Given the description of an element on the screen output the (x, y) to click on. 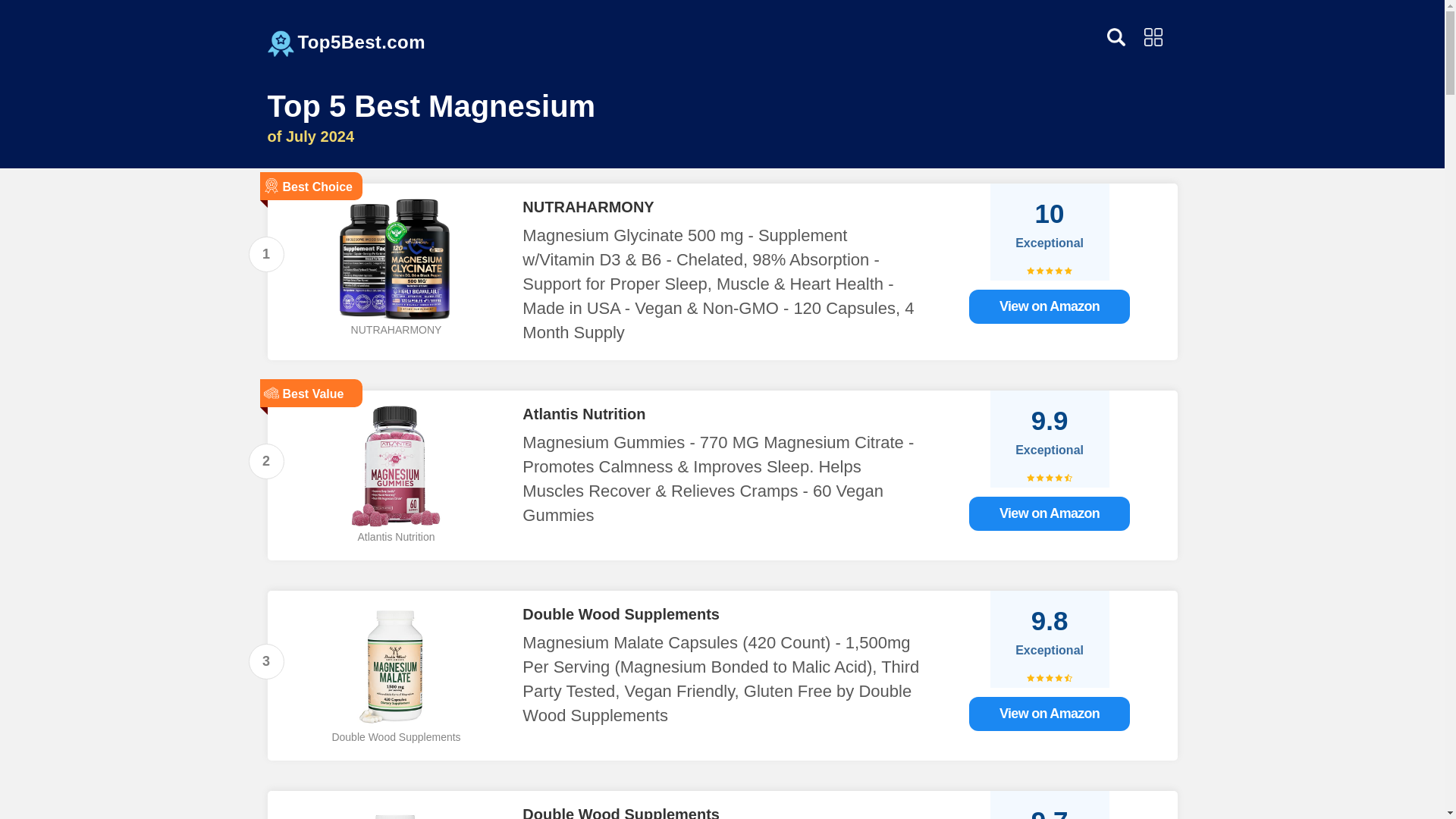
Top5Best.com (361, 39)
